Given the description of an element on the screen output the (x, y) to click on. 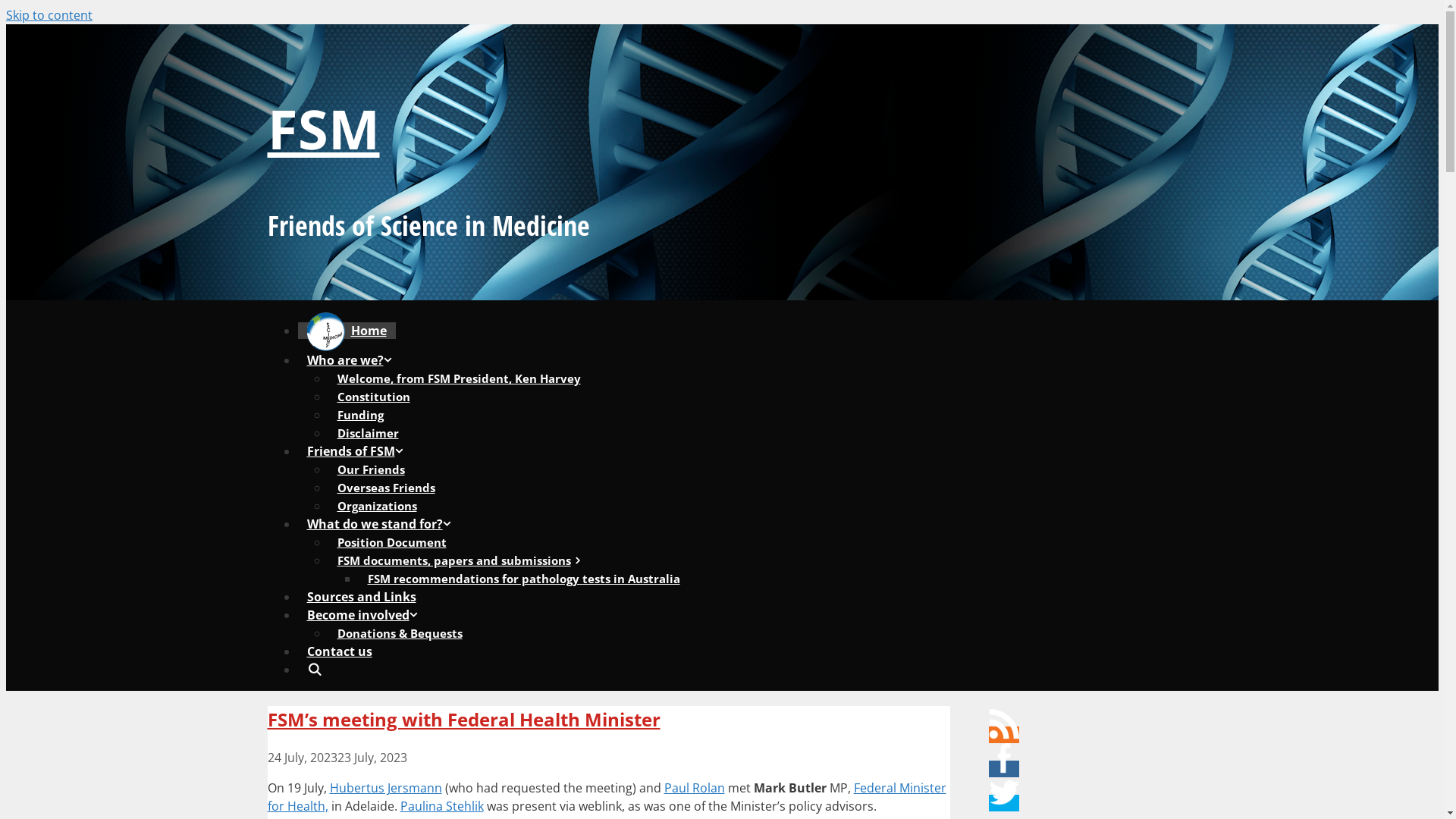
Overseas Friends Element type: text (385, 487)
FSM Element type: text (322, 128)
Constitution Element type: text (372, 396)
Friends of FSM Element type: text (359, 450)
FSM recommendations for pathology tests in Australia Element type: text (522, 578)
Paulina Stehlik Element type: text (441, 805)
Funding Element type: text (359, 414)
FSM documents, papers and submissions Element type: text (462, 560)
Who are we? Element type: text (354, 359)
Donations & Bequests Element type: text (398, 633)
What do we stand for? Element type: text (383, 523)
Welcome, from FSM President, Ken Harvey Element type: text (458, 378)
Disclaimer Element type: text (367, 432)
Our Friends Element type: text (370, 469)
Facebook Element type: hover (1003, 758)
RSS Element type: hover (1003, 724)
Organizations Element type: text (376, 505)
Contact us Element type: text (338, 651)
Skip to content Element type: text (49, 14)
Paul Rolan Element type: text (694, 787)
Become involved Element type: text (366, 614)
Federal Minister for Health, Element type: text (605, 796)
Sources and Links Element type: text (360, 596)
Position Document Element type: text (391, 542)
Home Element type: text (346, 330)
Twitter Element type: hover (1003, 792)
Hubertus Jersmann Element type: text (385, 787)
